Given the description of an element on the screen output the (x, y) to click on. 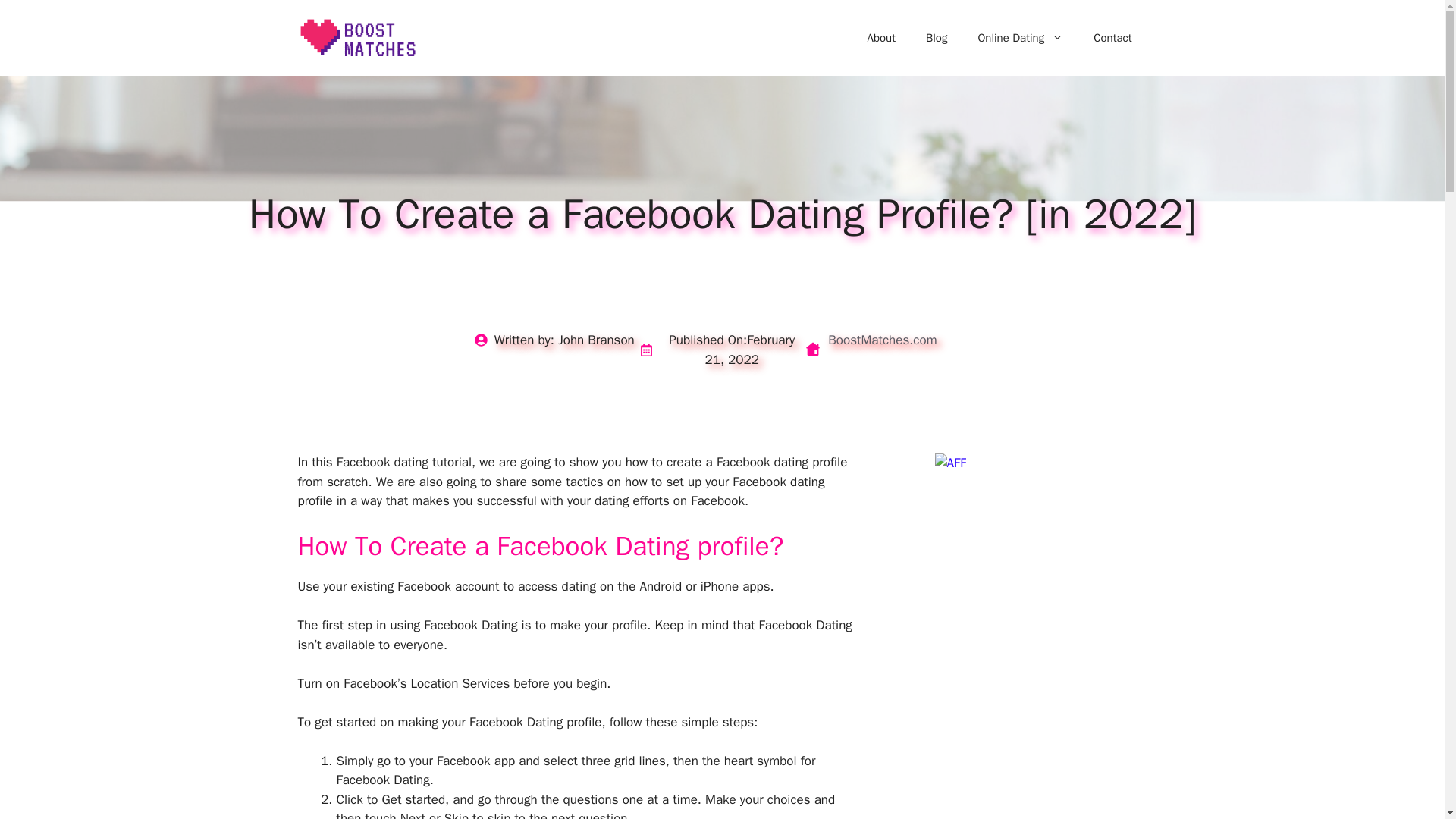
BoostMatches.com (882, 340)
Contact (1112, 37)
John Branson (595, 340)
AFF (950, 463)
Online Dating (1020, 37)
About (880, 37)
February 21, 2022 (749, 349)
Blog (936, 37)
